Given the description of an element on the screen output the (x, y) to click on. 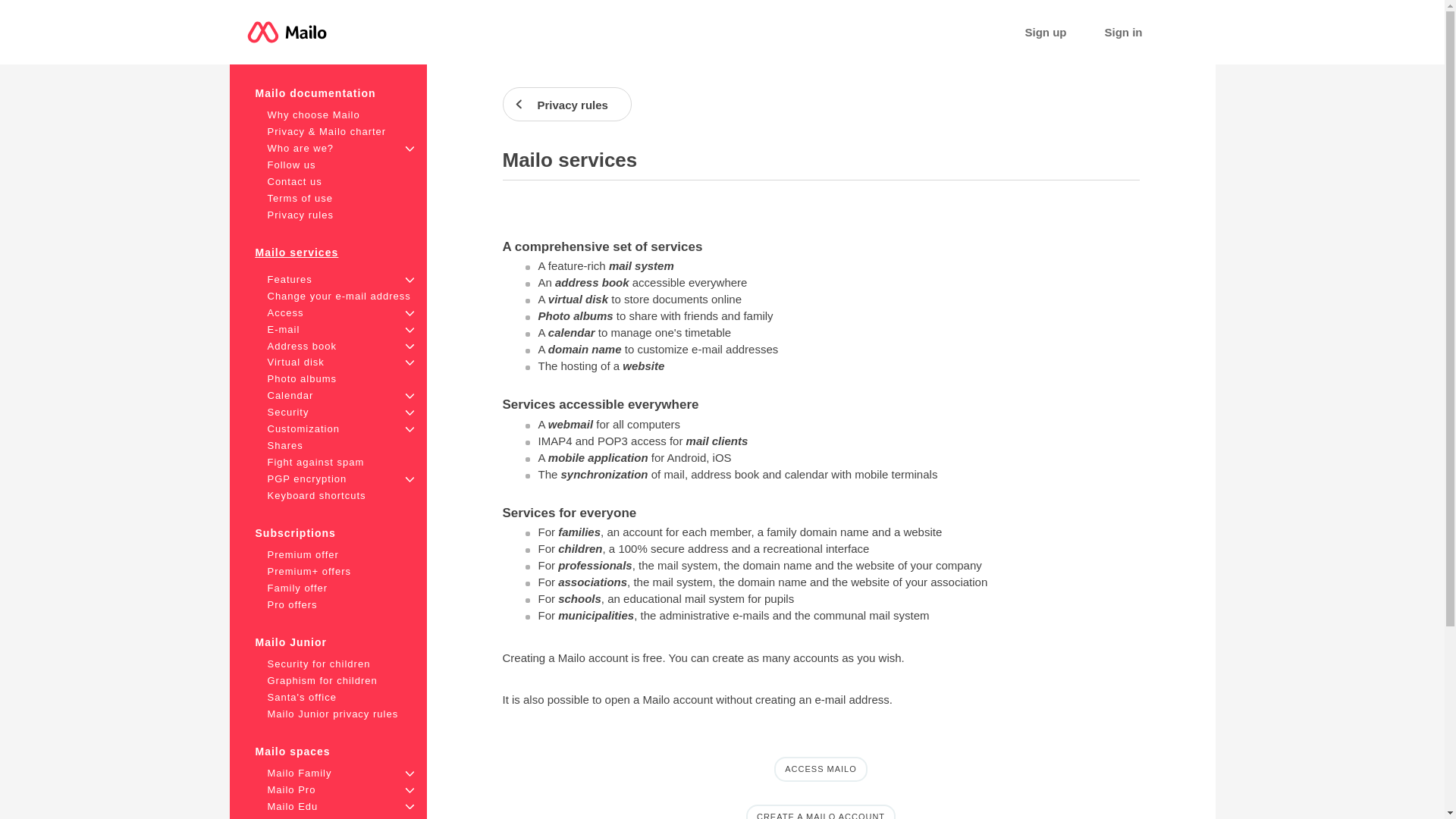
Security for children (317, 663)
Mailo home page (286, 31)
Mailo services (295, 252)
Privacy rules (299, 214)
Fight against spam (315, 461)
Mailo Junior (290, 642)
Pro offers (291, 604)
Sign up (1046, 31)
Keyboard shortcuts (315, 495)
Change your e-mail address (338, 296)
